Given the description of an element on the screen output the (x, y) to click on. 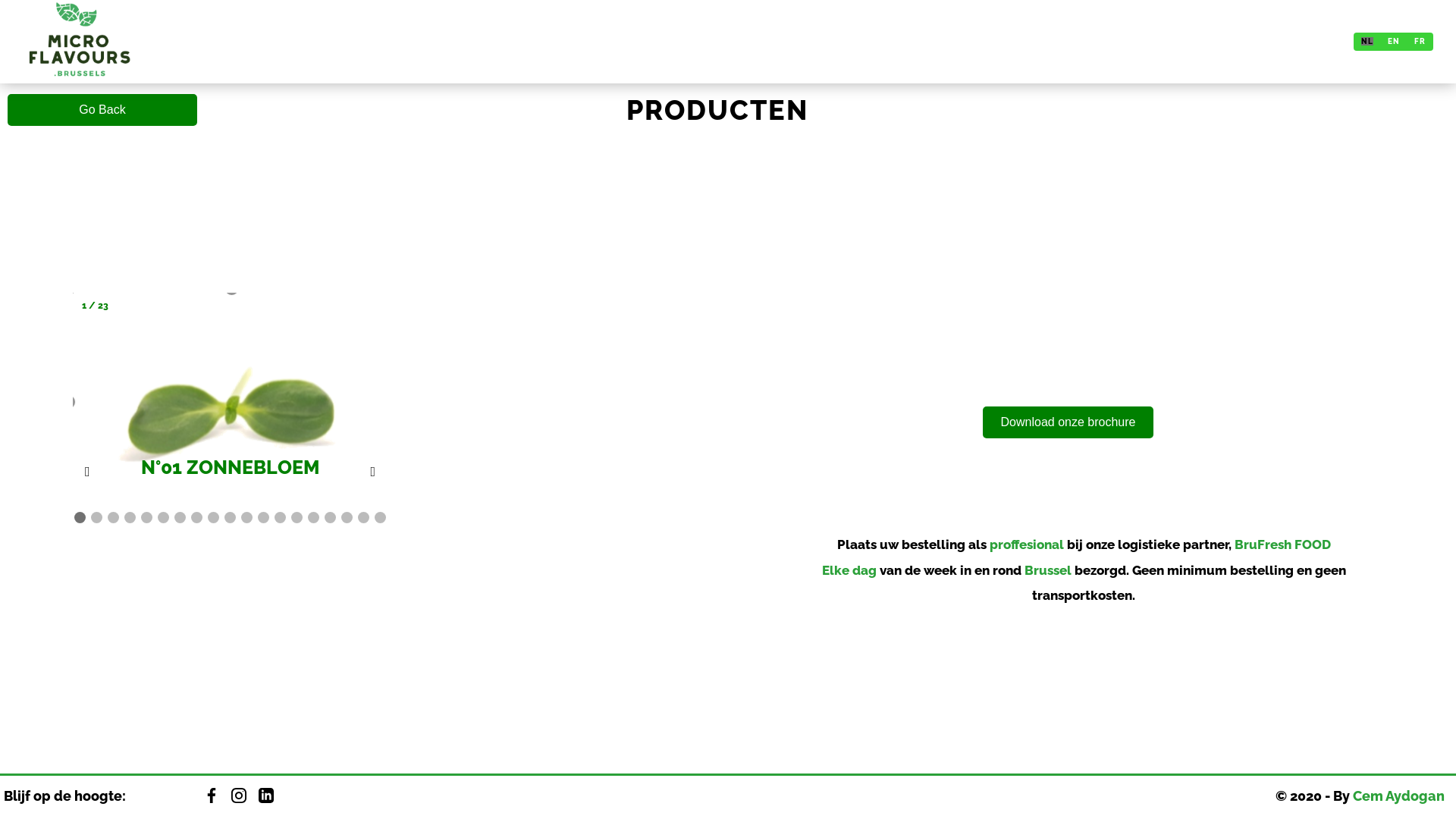
Download onze brochure Element type: text (1068, 422)
NL Element type: text (1367, 41)
Cem Aydogan Element type: text (1398, 795)
Go Back Element type: text (102, 109)
FR Element type: text (1419, 41)
EN Element type: text (1393, 41)
Download onze brochure Element type: text (1068, 422)
BruFresh FOOD Element type: text (1282, 544)
